Given the description of an element on the screen output the (x, y) to click on. 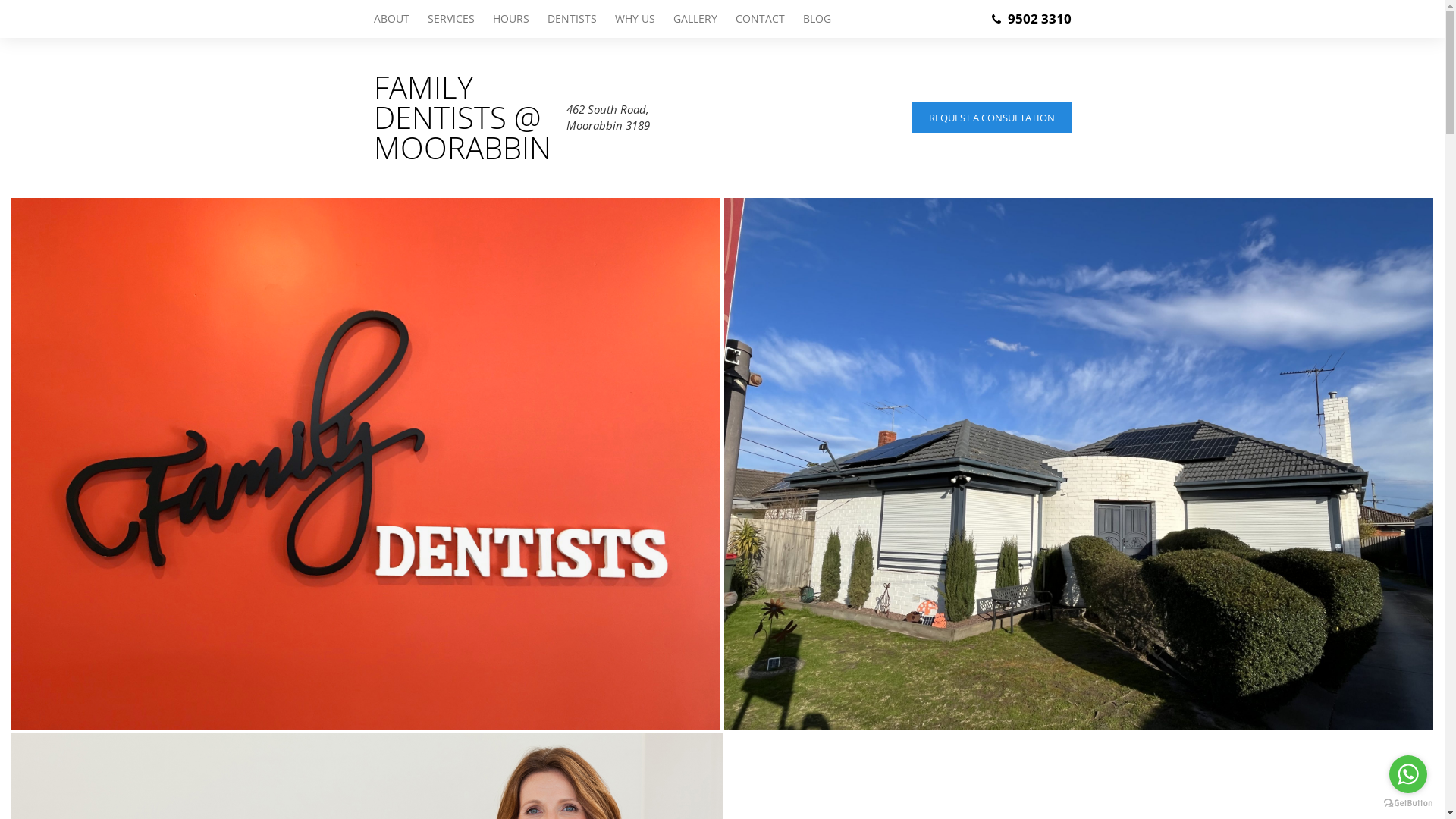
CONTACT Element type: text (759, 18)
WHY US Element type: text (634, 18)
DENTISTS Element type: text (571, 18)
BLOG Element type: text (811, 18)
ABOUT Element type: text (395, 18)
SERVICES Element type: text (450, 18)
HOURS Element type: text (510, 18)
REQUEST A CONSULTATION Element type: text (990, 116)
FAMILY DENTISTS @ MOORABBIN Element type: text (461, 117)
GALLERY Element type: text (695, 18)
